Given the description of an element on the screen output the (x, y) to click on. 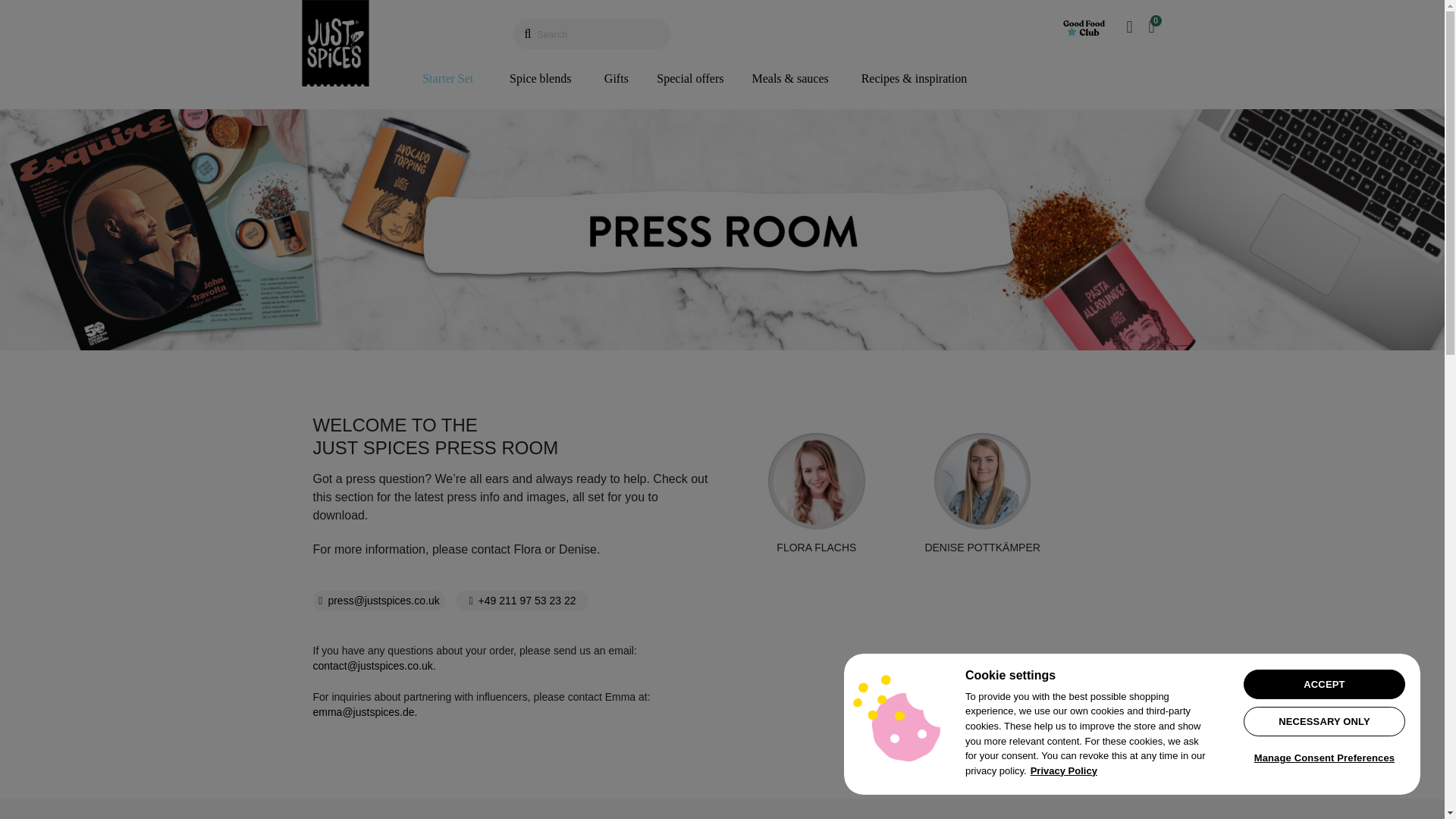
Starter Set (448, 78)
Spice Sets (689, 78)
Gifts (616, 78)
Special offers (689, 78)
Gifts (616, 78)
Starter Set (448, 78)
Spice Blends (540, 78)
Spice blends (540, 78)
Spice Blends (789, 78)
Company Logo (896, 717)
